Given the description of an element on the screen output the (x, y) to click on. 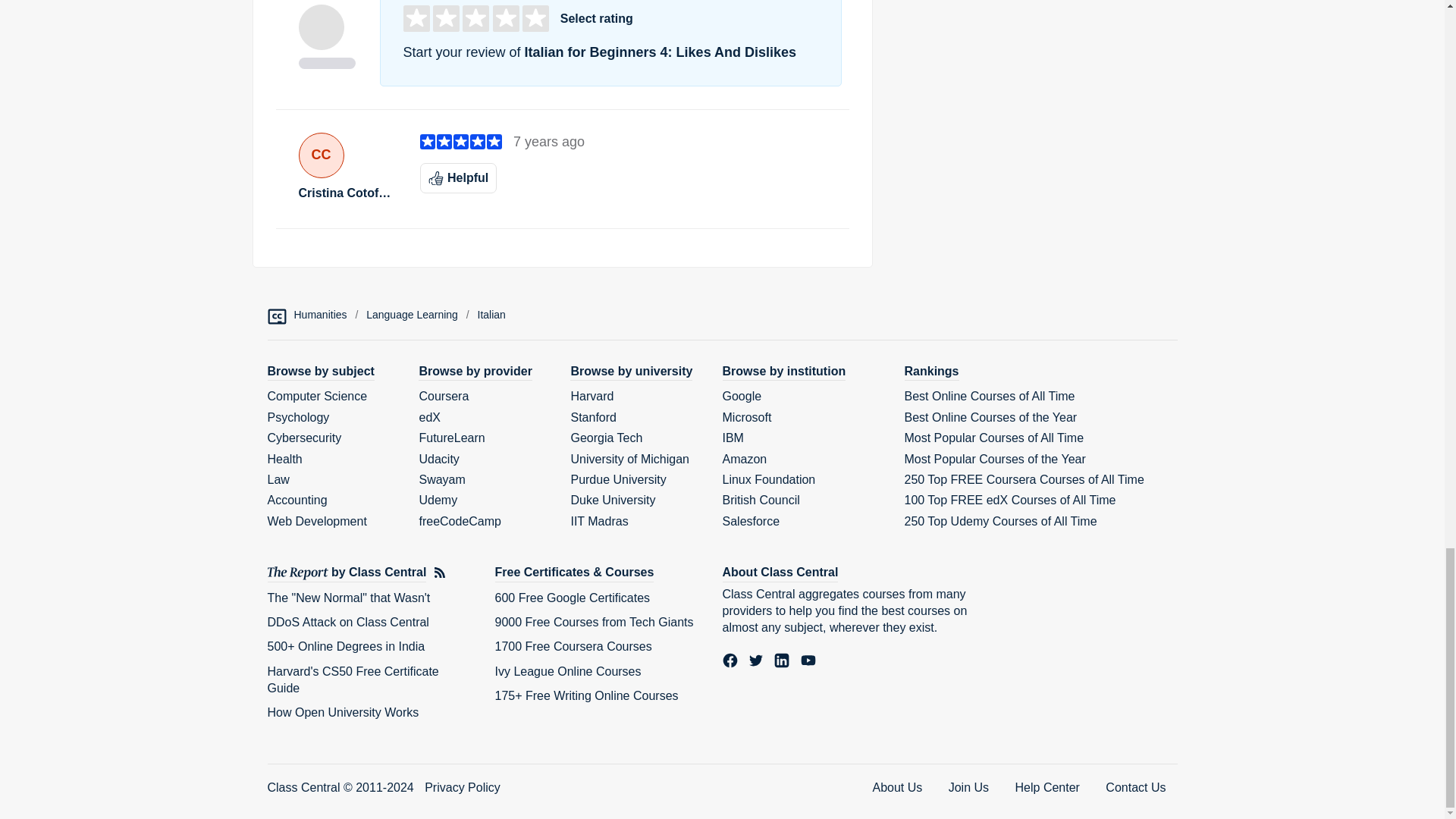
How Open University Works (342, 712)
DDoS Attack on Class Central (347, 621)
Free Courses and Certificates (574, 572)
Cristina Cotofana (347, 192)
1700 Free Coursera Courses (572, 645)
Ivy League Online Courses (567, 671)
9000 Free Courses from Tech Giants (594, 621)
Harvard's CS50 Free Certificate Guide (352, 679)
600 Free Google Certificates (572, 597)
The "New Normal" that Wasn't (347, 597)
